Given the description of an element on the screen output the (x, y) to click on. 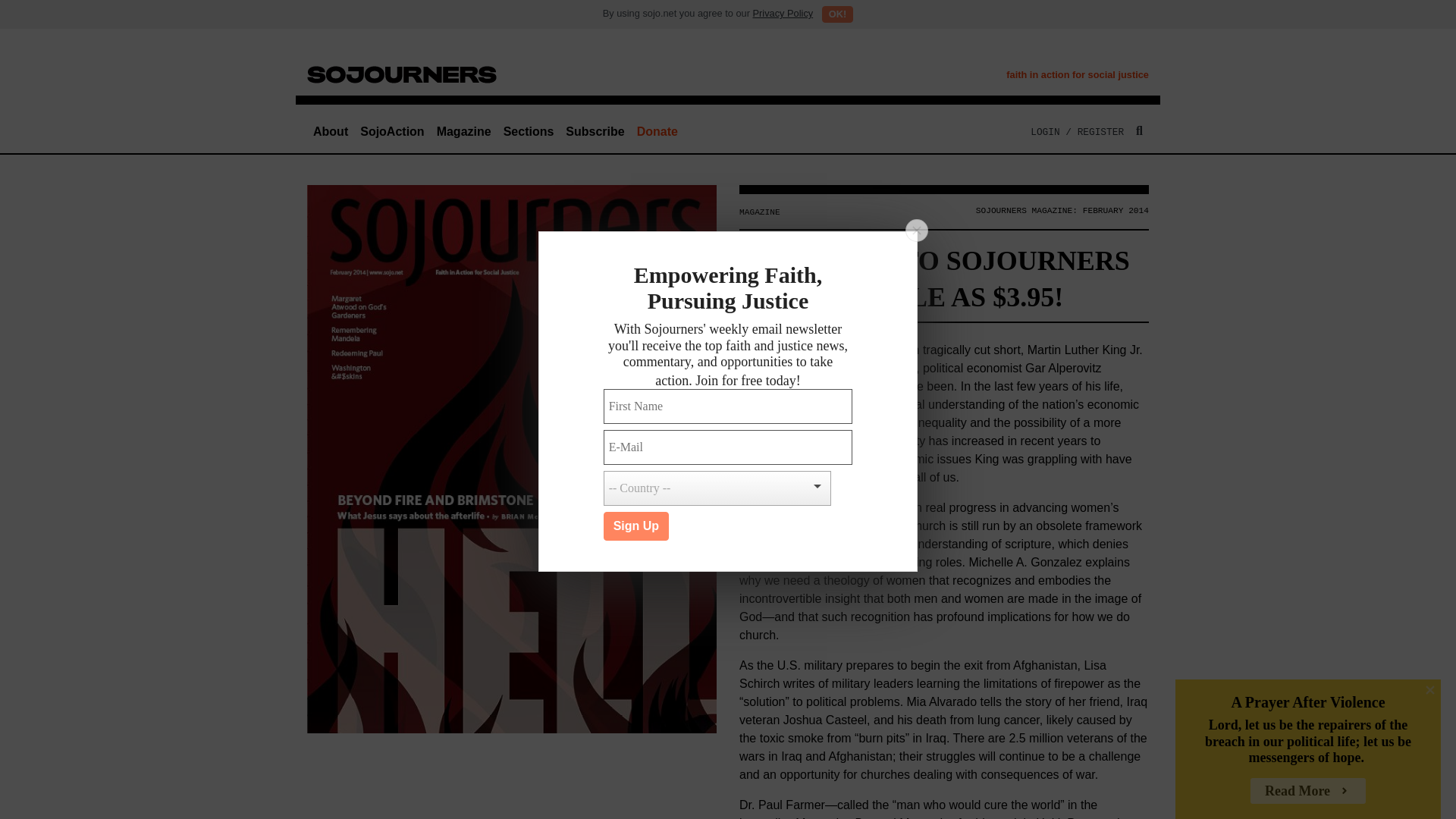
Close (916, 230)
Sign Up (636, 525)
Magazine (463, 132)
Login or Register (1077, 131)
OK! (837, 13)
Close (1430, 689)
About (330, 132)
OK! (837, 13)
Read More (1307, 790)
Privacy Policy (782, 12)
Subscribe (594, 132)
SojoAction (391, 132)
Sections (528, 132)
